Given the description of an element on the screen output the (x, y) to click on. 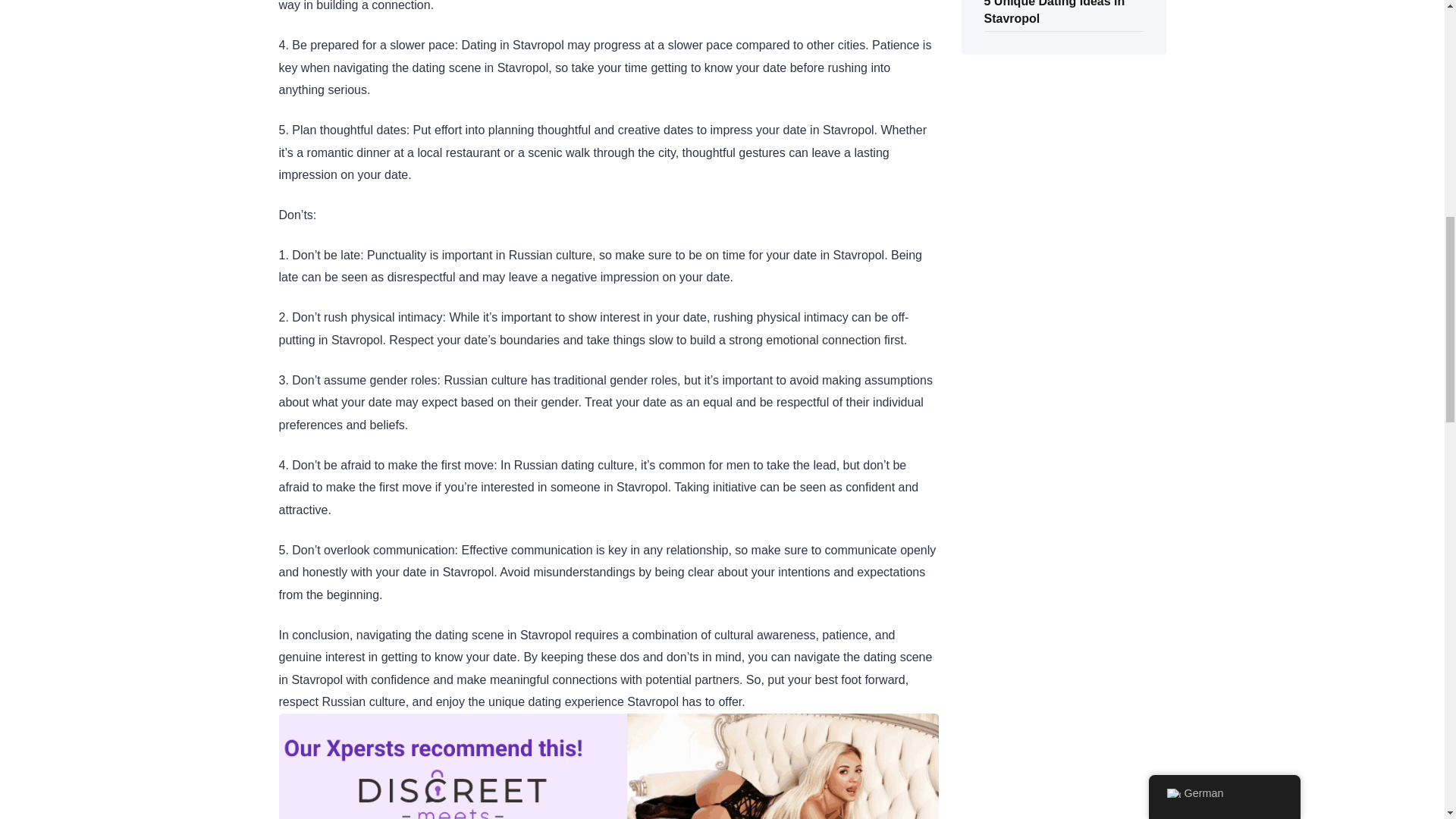
5 Unique Dating Ideas in Stavropol (1054, 13)
